Given the description of an element on the screen output the (x, y) to click on. 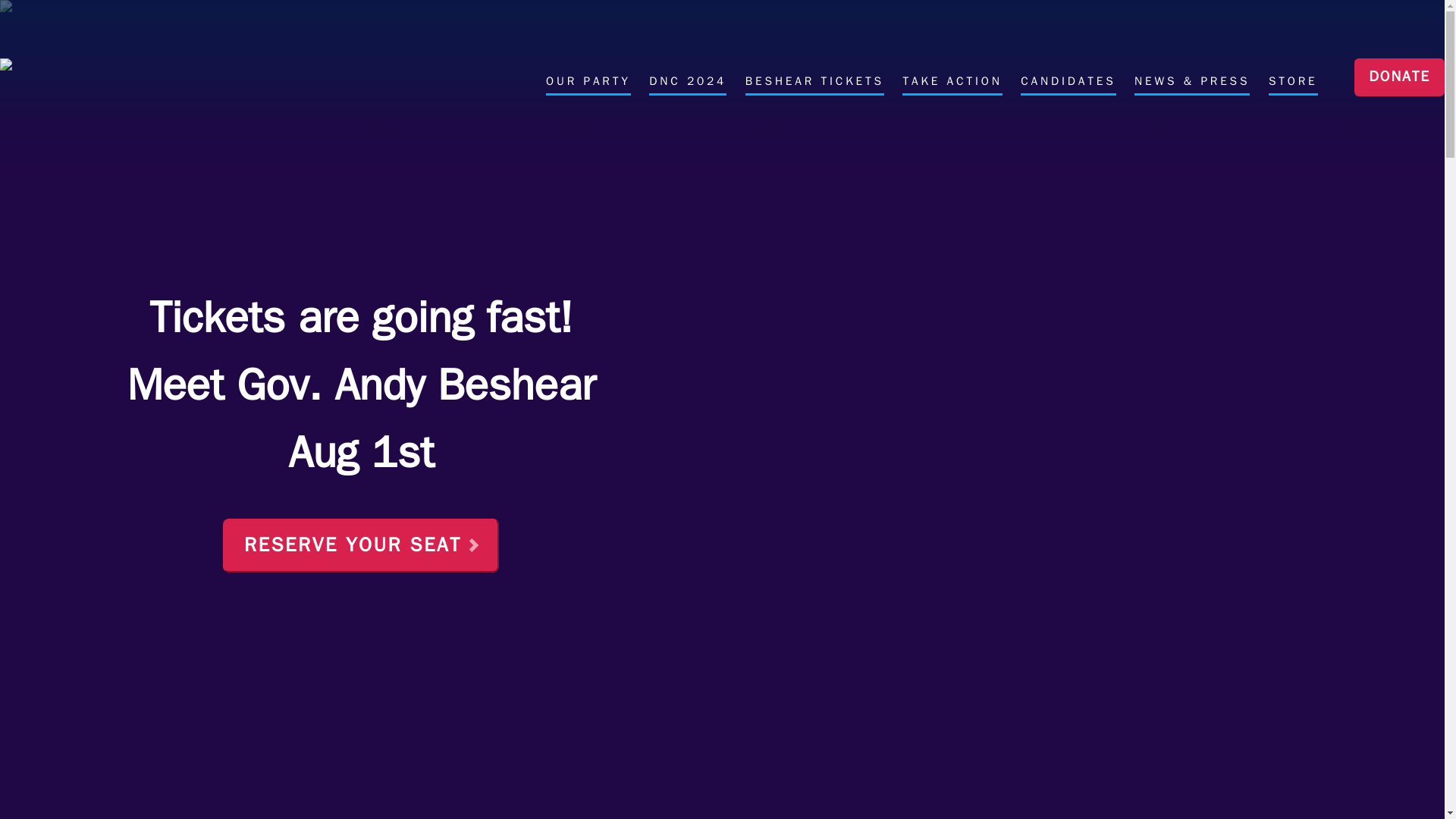
OUR PARTY (588, 84)
CANDIDATES (1067, 84)
TAKE ACTION (951, 84)
BESHEAR TICKETS (814, 84)
DNC 2024 (687, 84)
RESERVE YOUR SEAT (360, 545)
RESERVE YOUR SEAT (360, 543)
STORE (1292, 84)
